Given the description of an element on the screen output the (x, y) to click on. 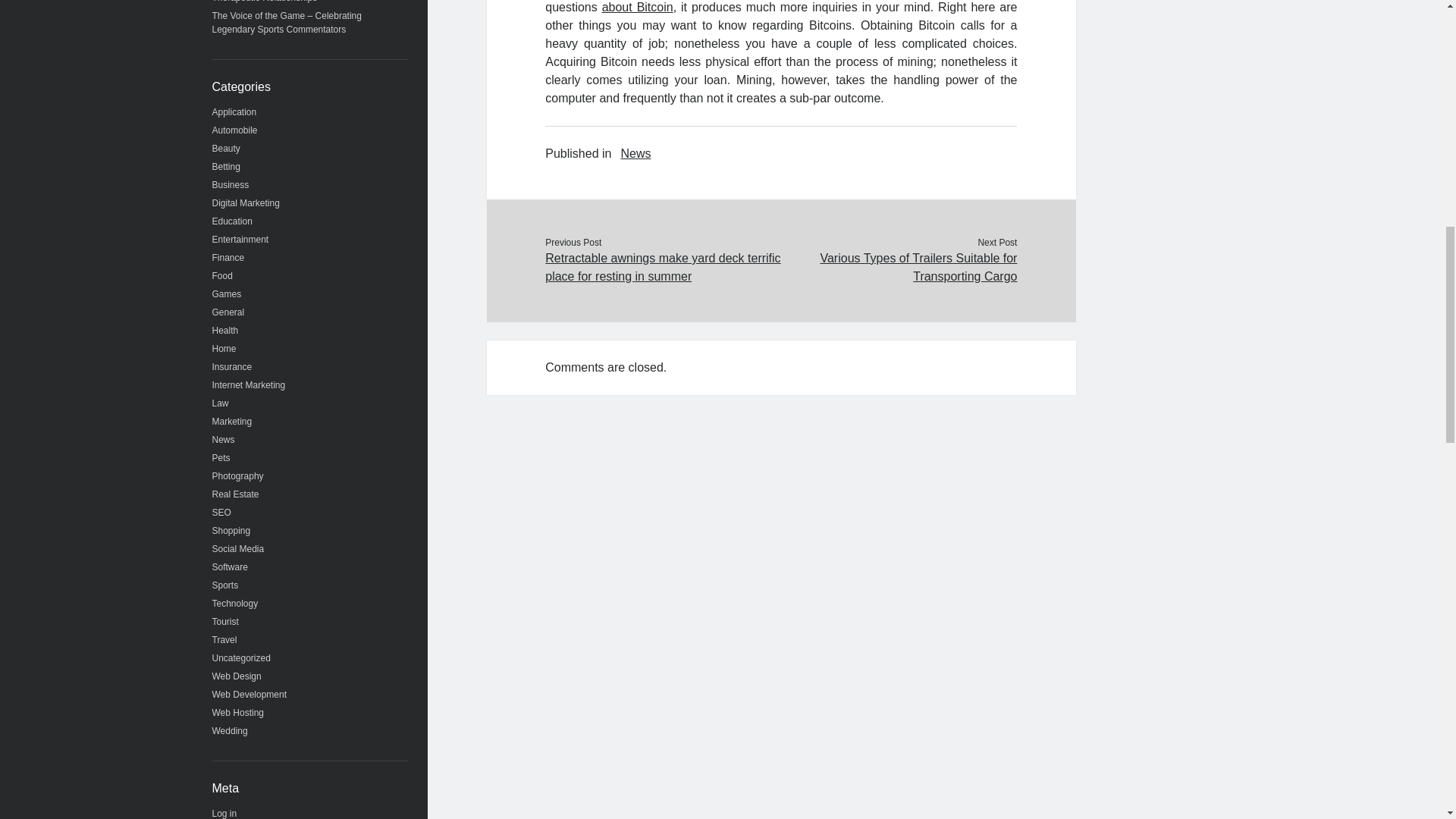
Social Media (238, 548)
Entertainment (240, 239)
Insurance (231, 366)
News (223, 439)
Food (222, 276)
Sports (225, 584)
Beauty (226, 148)
Home (223, 348)
Digital Marketing (245, 203)
SEO (221, 511)
Law (220, 403)
Automobile (234, 130)
Pets (221, 457)
Education (231, 221)
